Given the description of an element on the screen output the (x, y) to click on. 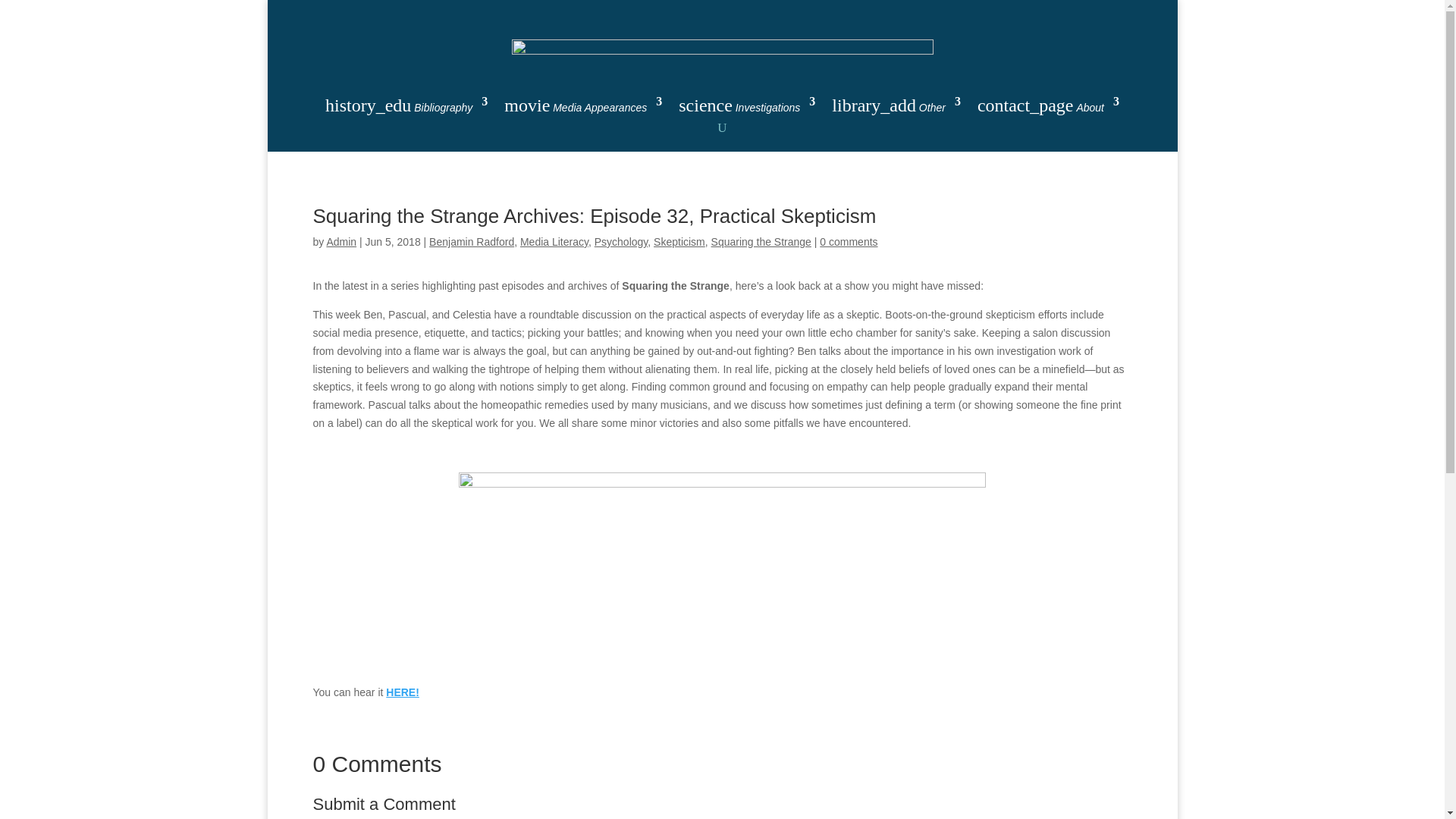
Psychology (620, 241)
0 comments (848, 241)
toplogoBig (722, 53)
Benjamin Radford (471, 241)
science Investigations (746, 108)
Skepticism (678, 241)
HERE! (402, 692)
Posts by Admin (341, 241)
Admin (341, 241)
Media Literacy (553, 241)
movie Media Appearances (582, 108)
Squaring the Strange (760, 241)
